Given the description of an element on the screen output the (x, y) to click on. 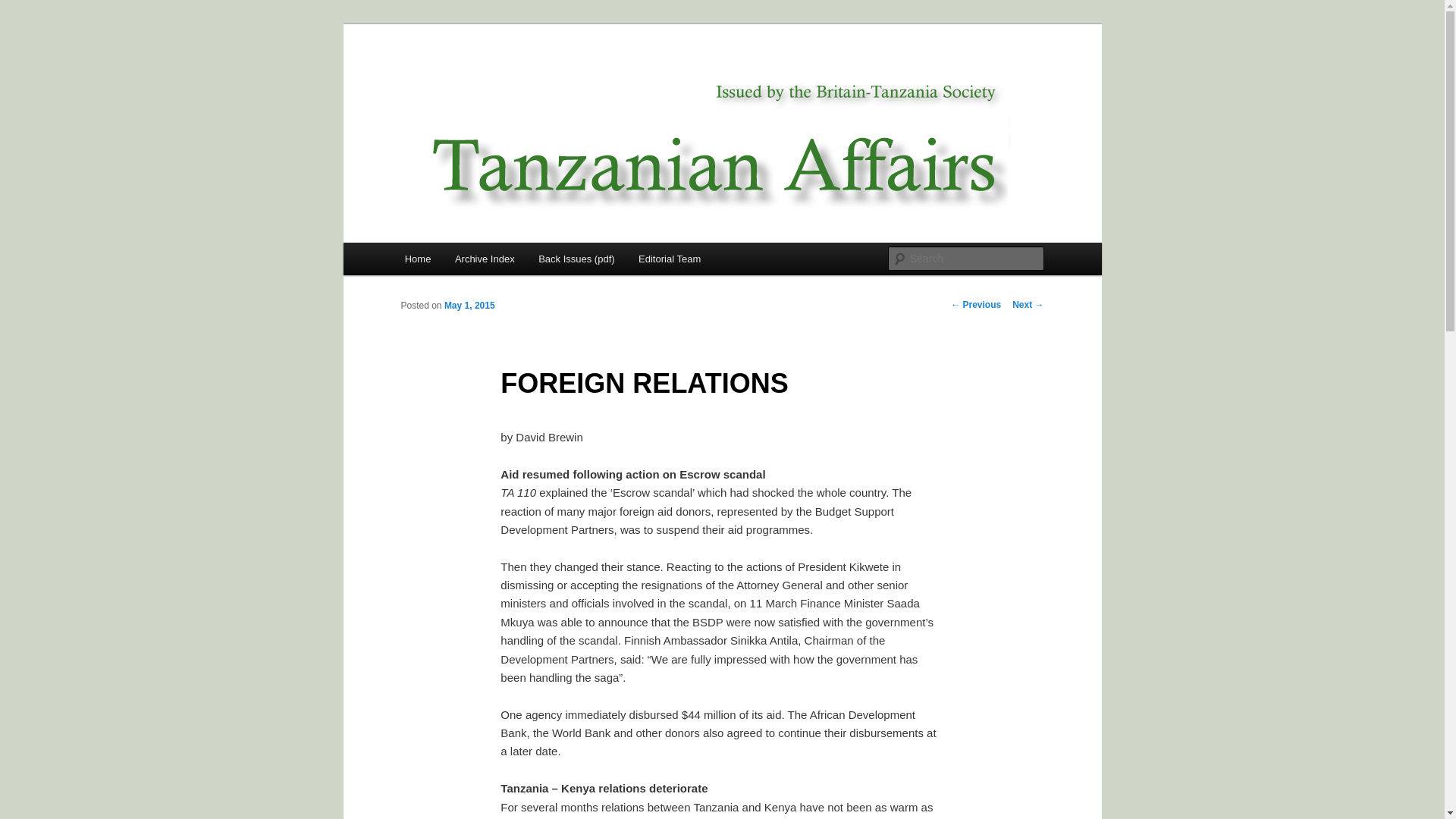
Tanzanian Affairs (494, 78)
Search (24, 8)
May 1, 2015 (469, 305)
Editorial Team (669, 258)
Archive Index (483, 258)
Home (417, 258)
